Given the description of an element on the screen output the (x, y) to click on. 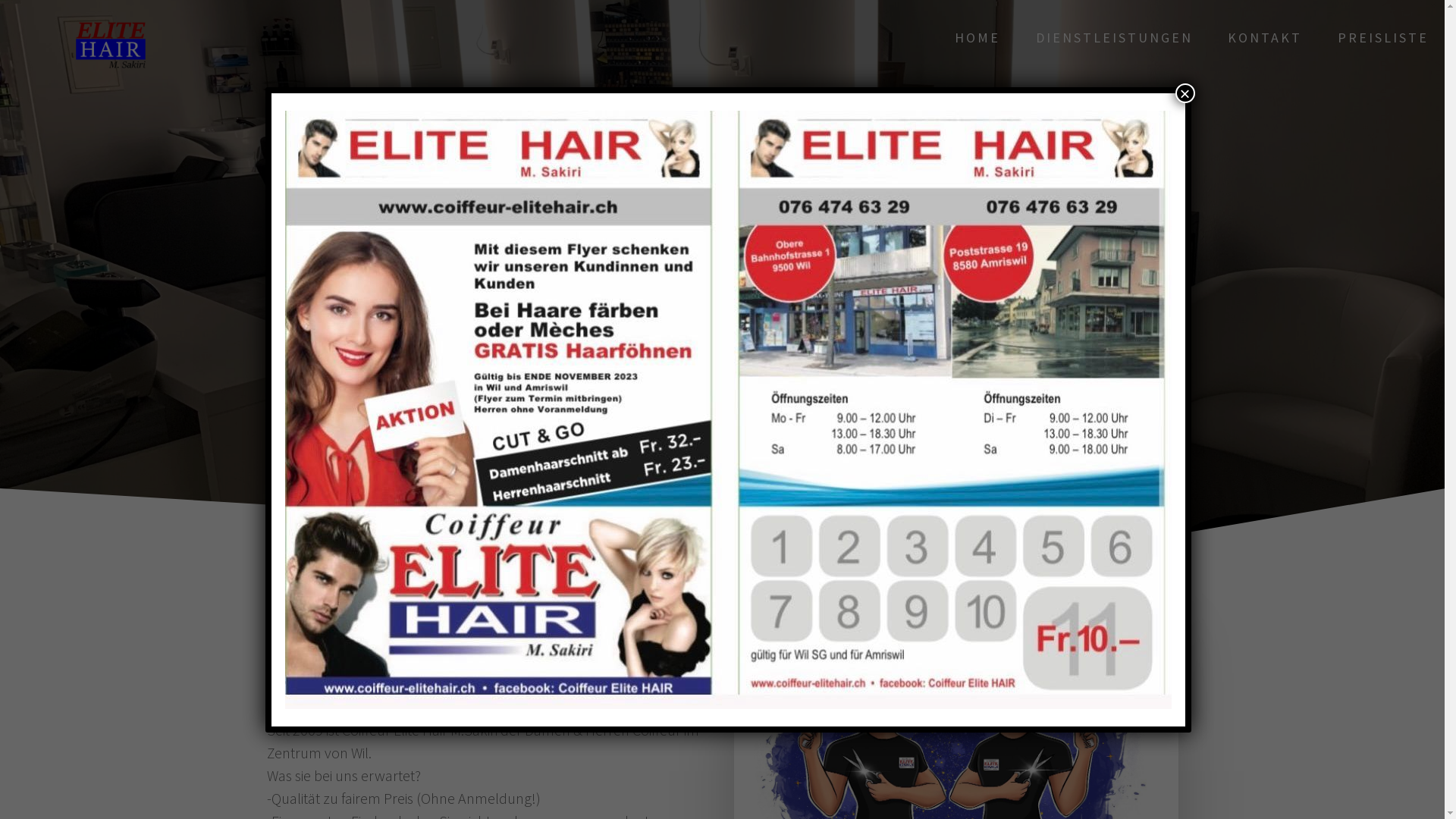
DIENSTLEISTUNGEN Element type: text (1113, 37)
HOME Element type: text (977, 37)
PREISLISTE Element type: text (1382, 37)
KONTAKT Element type: text (1264, 37)
